Given the description of an element on the screen output the (x, y) to click on. 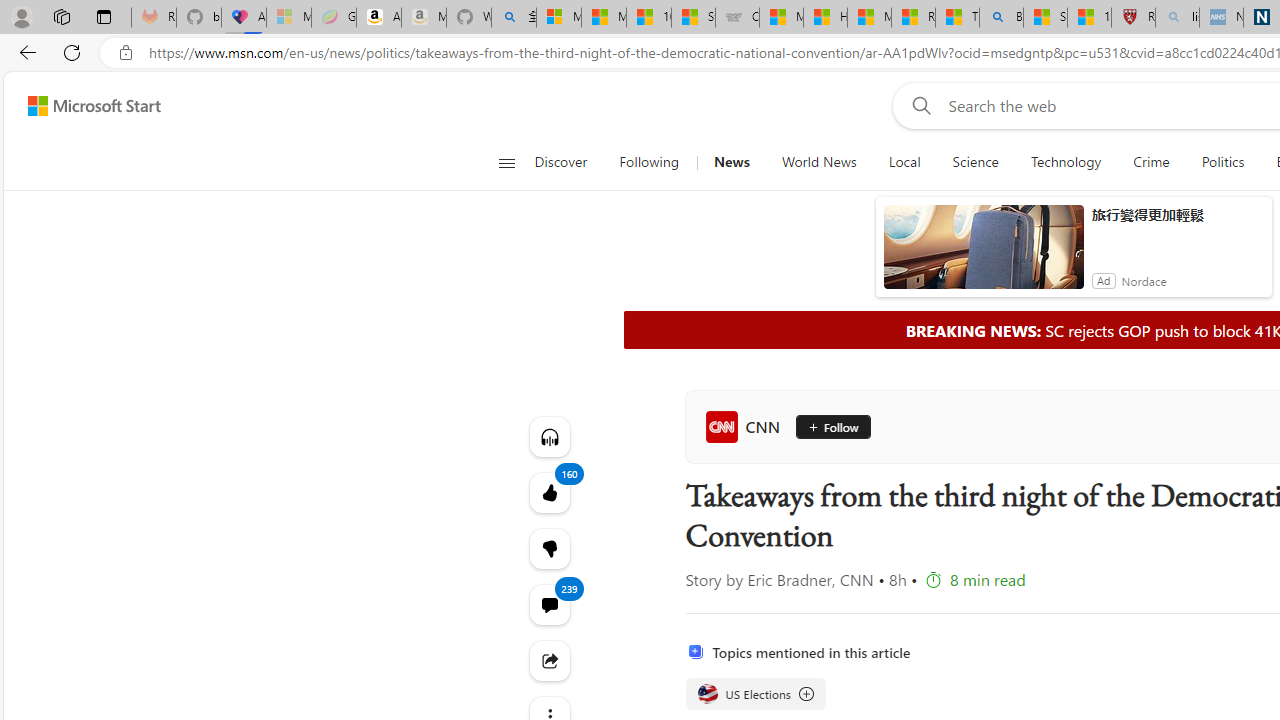
View comments 239 Comment (548, 604)
Ad (1103, 280)
News (731, 162)
World News (818, 162)
Technology (1066, 162)
Science - MSN (1045, 17)
Technology (1065, 162)
Recipes - MSN (913, 17)
Science (975, 162)
160 (548, 548)
